Given the description of an element on the screen output the (x, y) to click on. 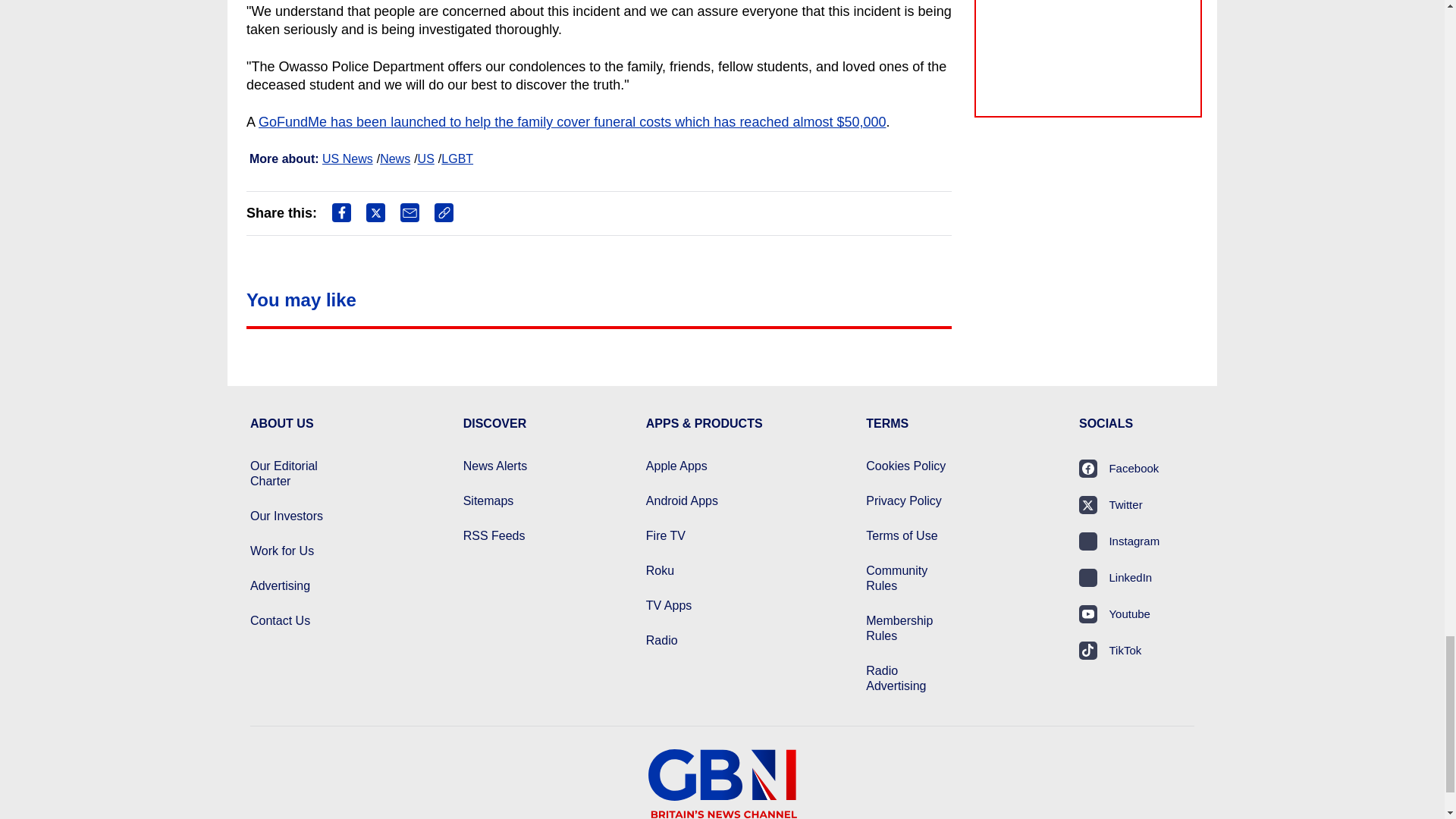
Copy this link to clipboard (442, 212)
